Given the description of an element on the screen output the (x, y) to click on. 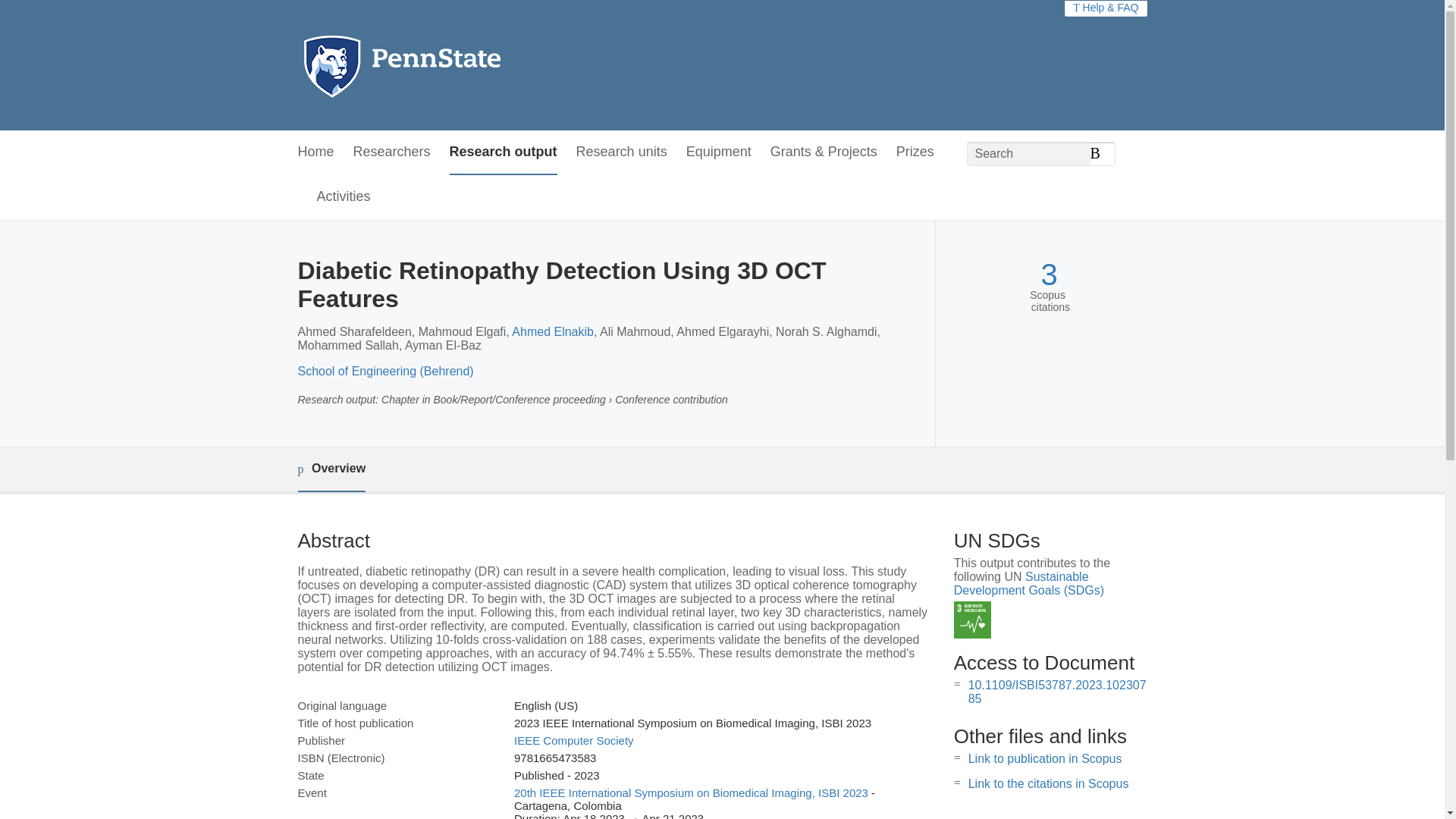
Researchers (391, 152)
Overview (331, 469)
Research output (503, 152)
Research units (621, 152)
SDG 3 - Good Health and Well-being (972, 619)
Activities (344, 197)
Link to the citations in Scopus (1048, 783)
IEEE Computer Society (573, 739)
Ahmed Elnakib (553, 331)
